Given the description of an element on the screen output the (x, y) to click on. 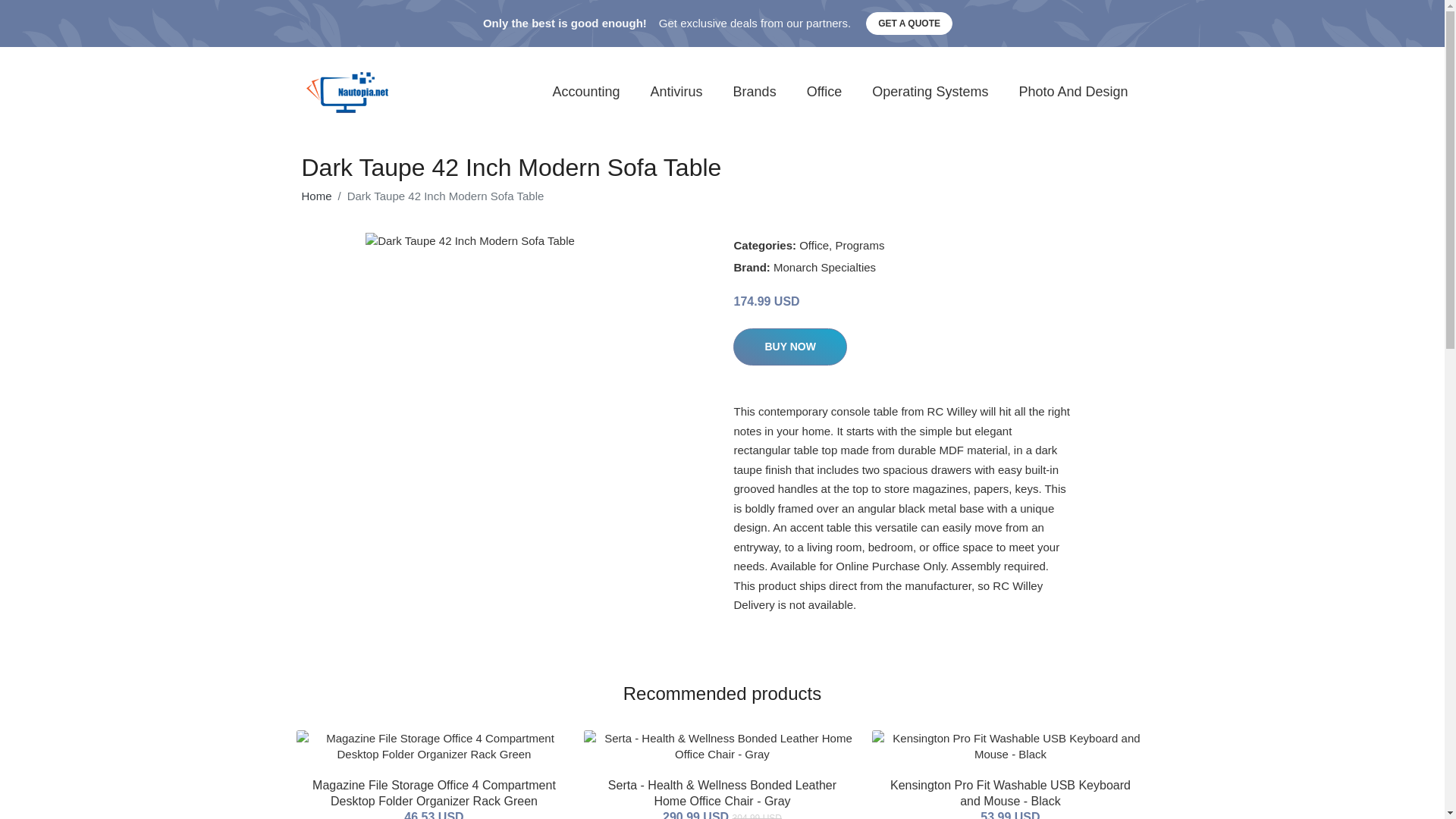
Antivirus (675, 92)
Photo And Design (1072, 92)
Kensington Pro Fit Washable USB Keyboard and Mouse - Black (1010, 792)
GET A QUOTE (909, 23)
Office (824, 92)
Office (813, 245)
Brands (754, 92)
Programs (858, 245)
Operating Systems (930, 92)
Home (316, 195)
